Given the description of an element on the screen output the (x, y) to click on. 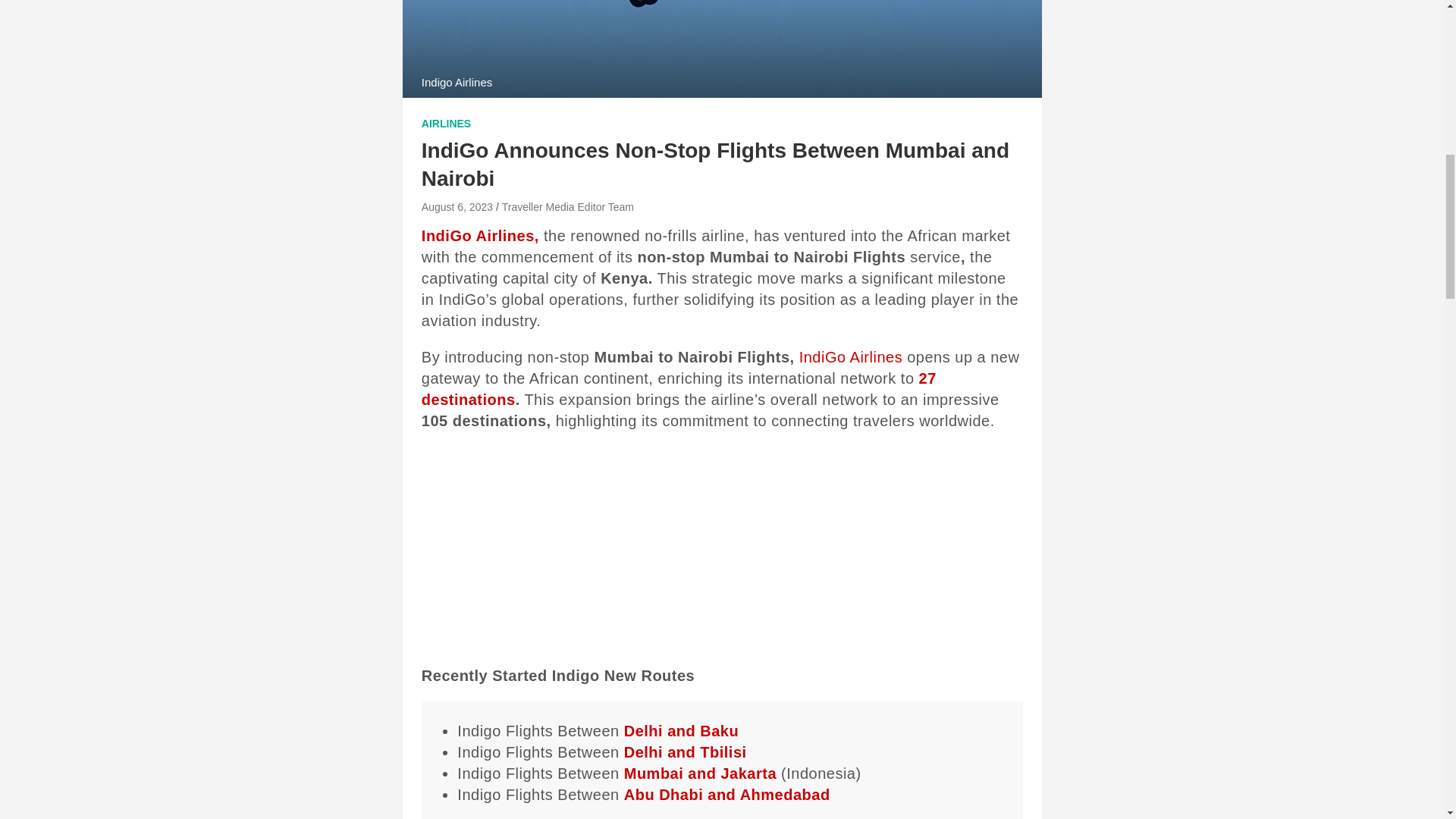
IndiGo Airlines (850, 356)
IndiGo Airlines, (480, 235)
Abu Dhabi and Ahmedabad (726, 794)
Mumbai and Jakarta (700, 773)
Delhi and Baku (681, 730)
AIRLINES (446, 124)
27 destinations (679, 388)
IndiGo Announces Non-Stop Flights Between Mumbai and Nairobi (457, 206)
Advertisement (722, 552)
Traveller Media Editor Team (567, 206)
Delhi and Tbilisi (685, 751)
August 6, 2023 (457, 206)
